Given the description of an element on the screen output the (x, y) to click on. 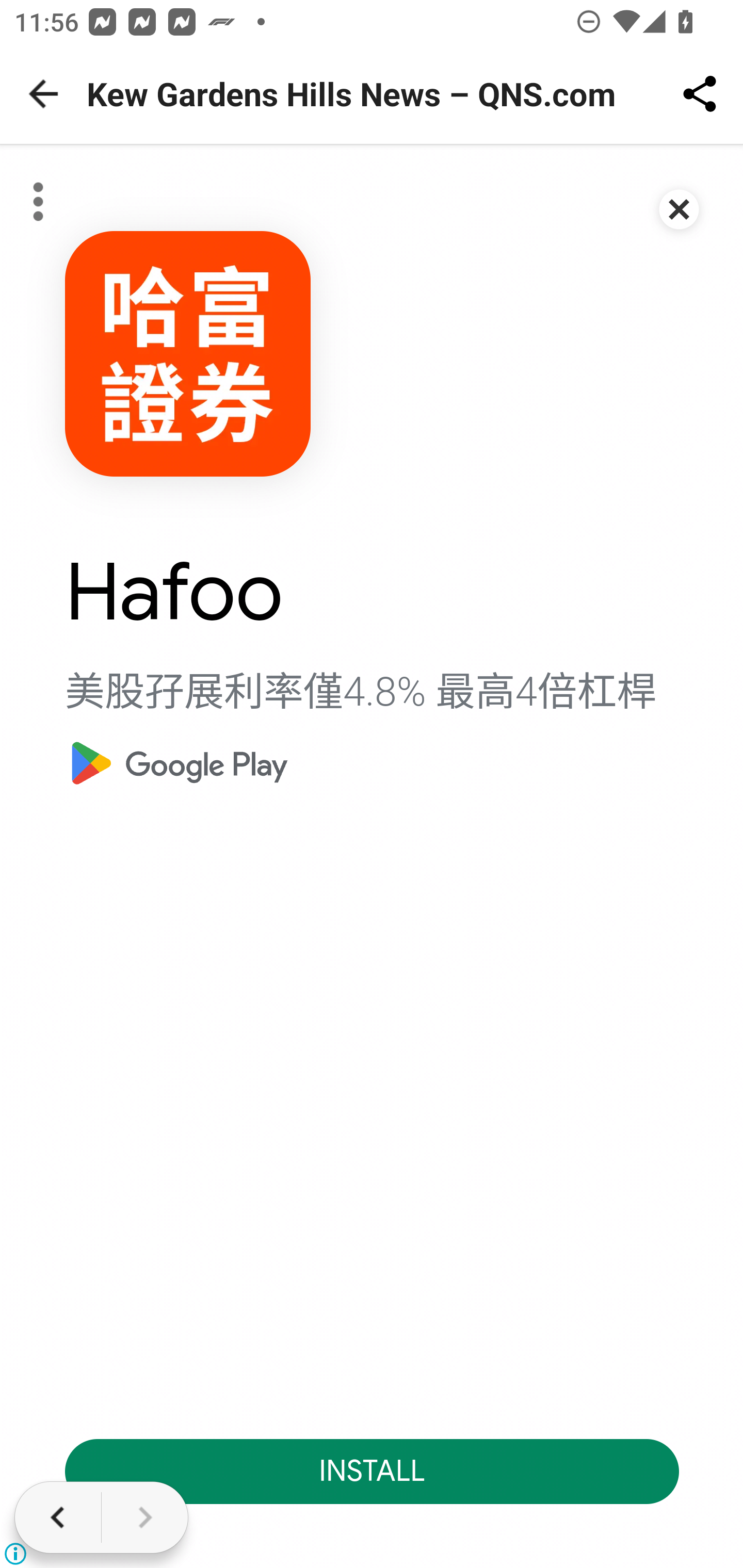
Close ad (679, 211)
Hafoo (174, 594)
美股孖展利率僅4.8% 最高4倍杠桿 (361, 692)
INSTALL (372, 1471)
